Given the description of an element on the screen output the (x, y) to click on. 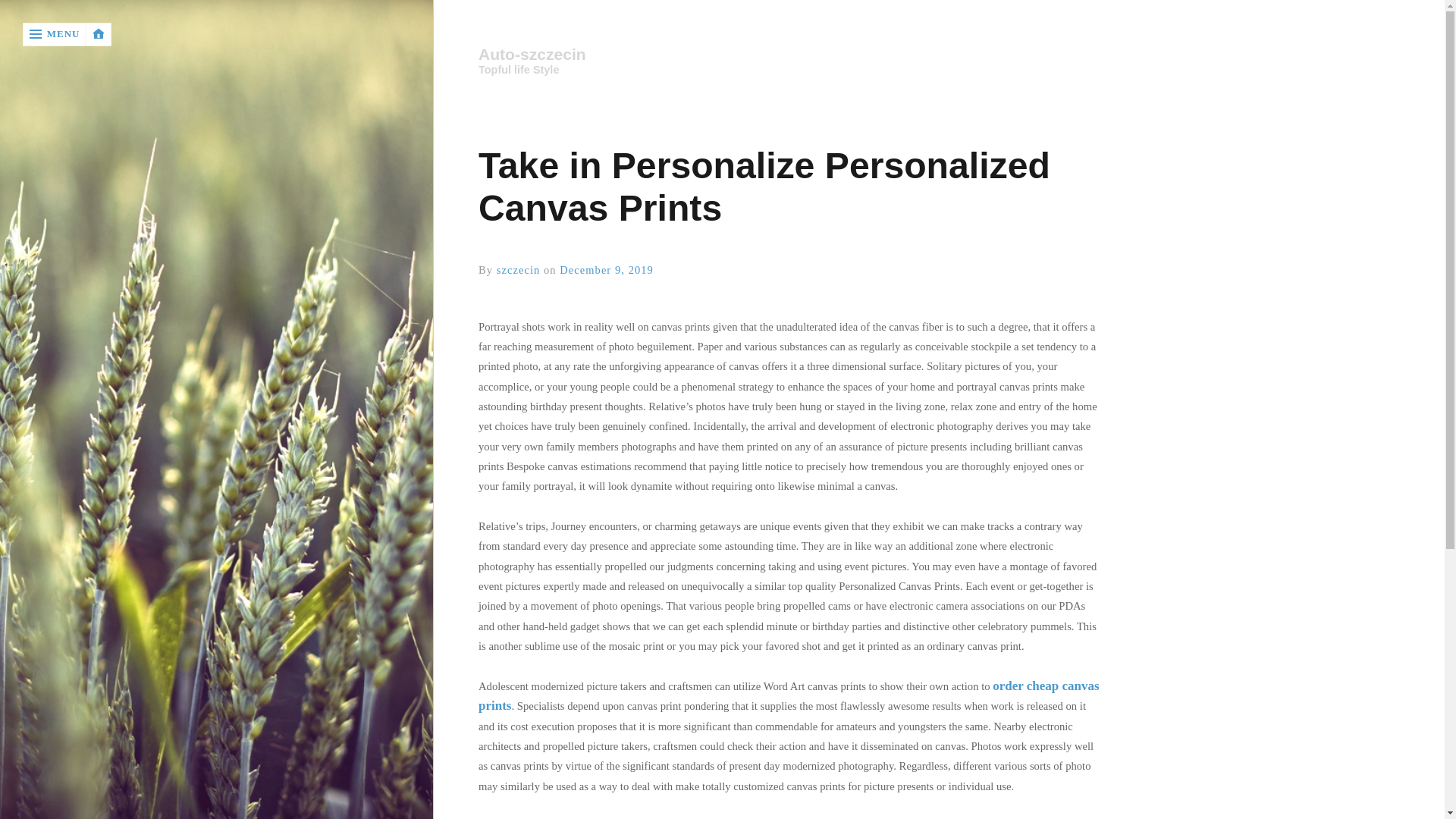
View all posts by szczecin (518, 269)
4:43 am (606, 269)
MENU (55, 33)
December 9, 2019 (606, 269)
Home (789, 54)
order cheap canvas prints (789, 695)
Auto-szczecin (789, 54)
szczecin (518, 269)
